Given the description of an element on the screen output the (x, y) to click on. 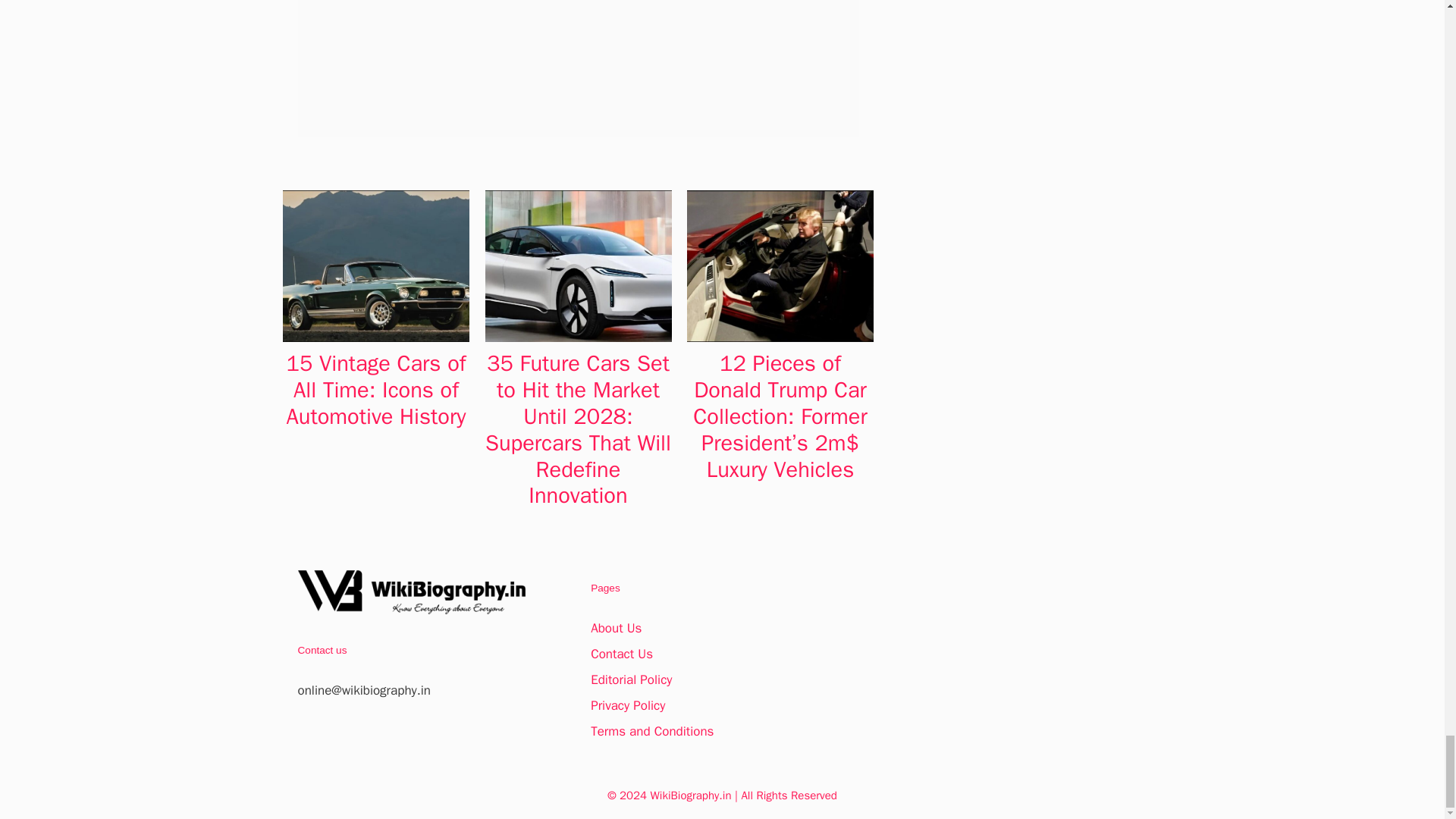
15 Vintage Cars of All Time: Icons of Automotive History (375, 389)
